Given the description of an element on the screen output the (x, y) to click on. 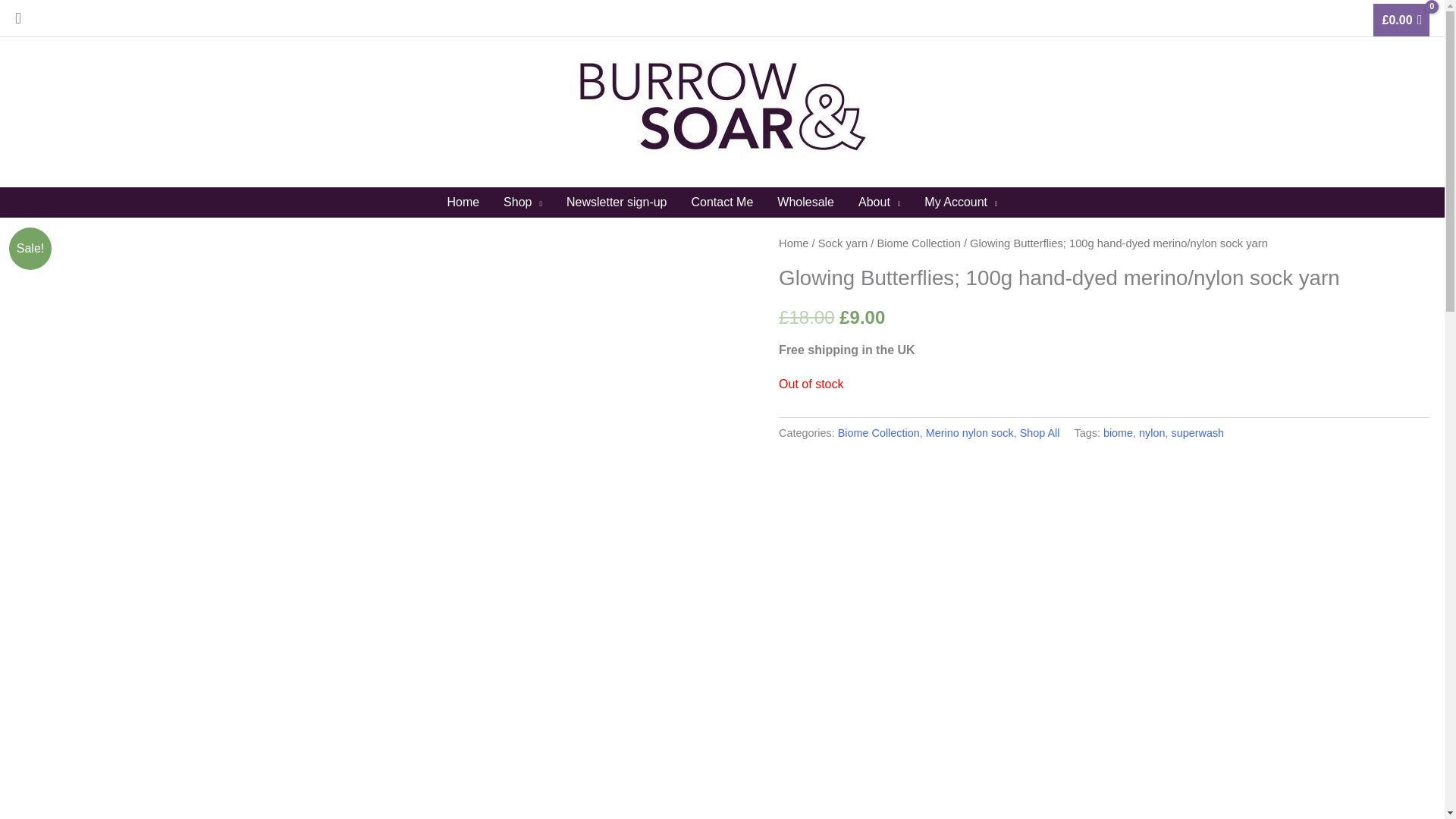
Merino nylon sock (969, 432)
Home (462, 202)
Biome Collection (879, 432)
Contact Me (722, 202)
nylon (1151, 432)
Biome Collection (917, 243)
Wholesale (805, 202)
Newsletter sign-up (616, 202)
My Account (960, 202)
biome (1117, 432)
Shop All (1039, 432)
About (878, 202)
Shop (523, 202)
Home (793, 243)
Sock yarn (842, 243)
